Given the description of an element on the screen output the (x, y) to click on. 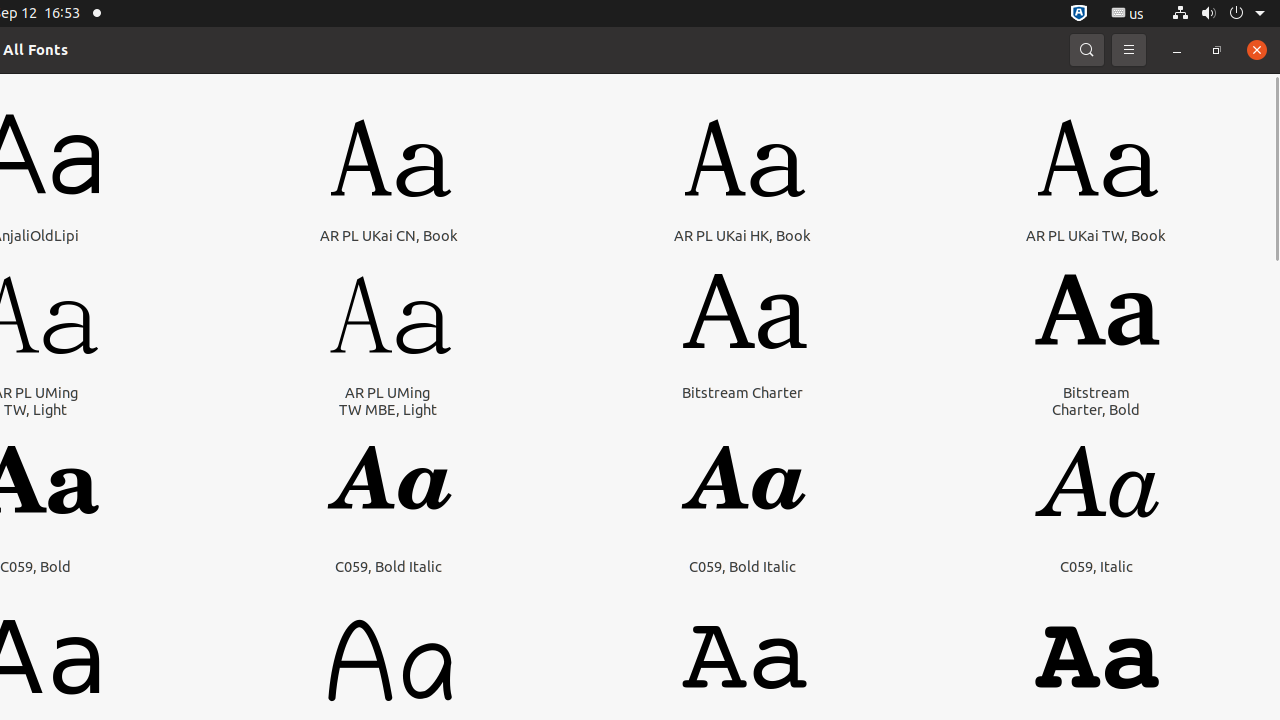
Bitstream Charter Element type: label (742, 392)
Bitstream Charter, Bold Element type: label (1096, 401)
AR PL UMing TW MBE, Light Element type: label (388, 401)
Minimize Element type: push-button (1177, 50)
